Given the description of an element on the screen output the (x, y) to click on. 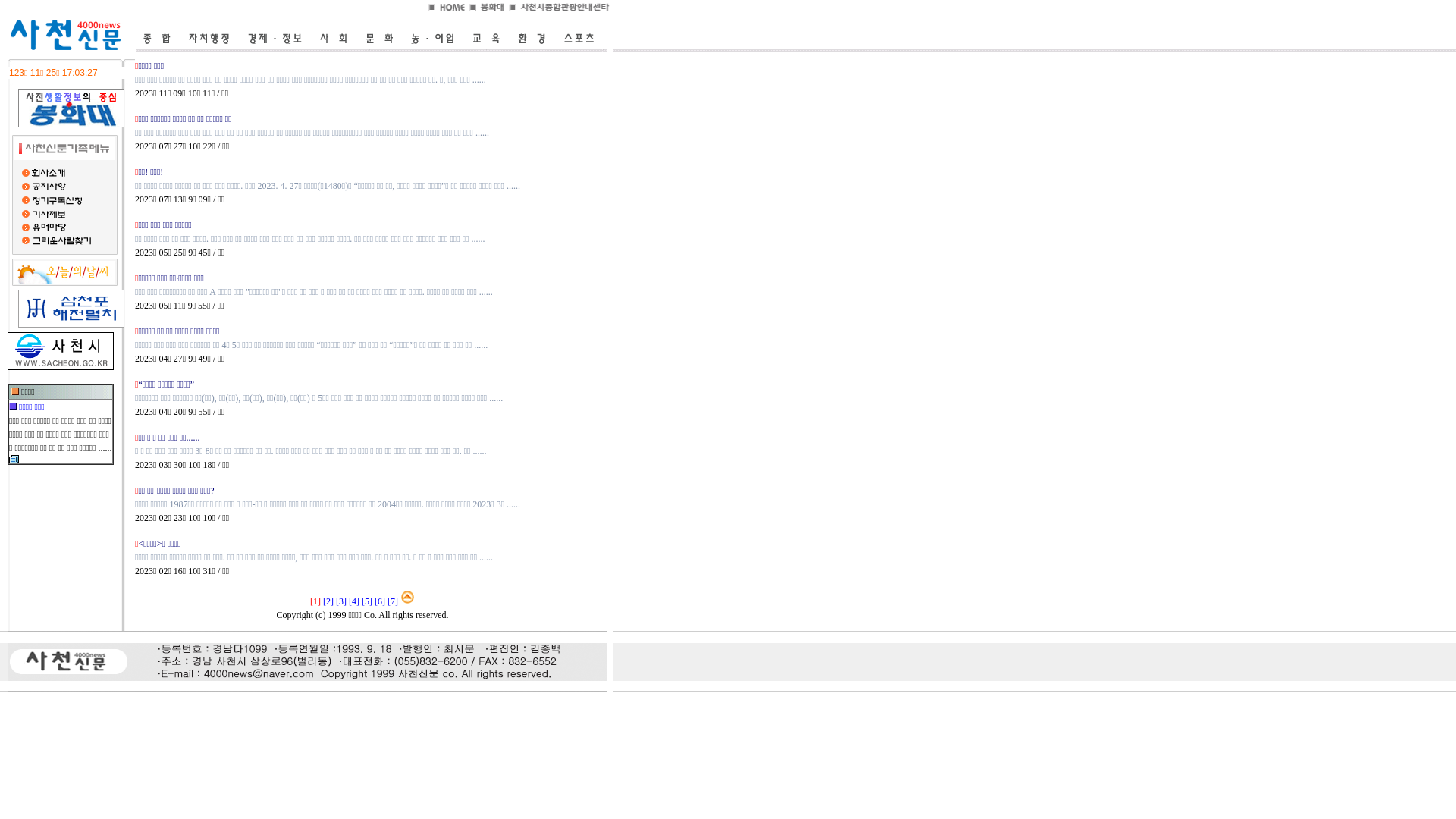
[5] Element type: text (366, 601)
[7] Element type: text (392, 601)
[3] Element type: text (340, 601)
[4] Element type: text (353, 601)
[6] Element type: text (379, 601)
[2] Element type: text (328, 601)
